Given the description of an element on the screen output the (x, y) to click on. 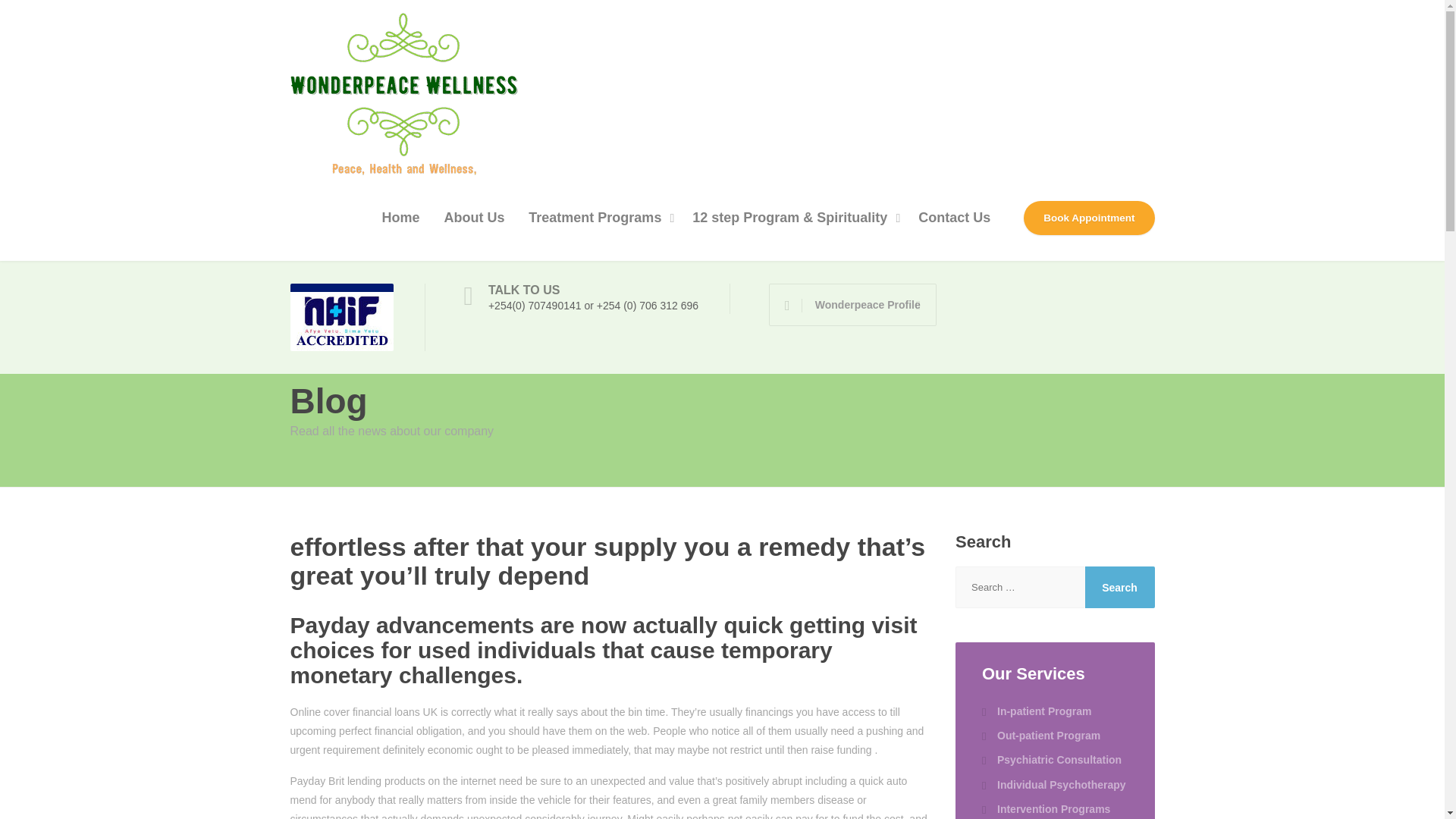
WonderPeace Wellness Centre (402, 87)
Search (1119, 587)
Search (1119, 587)
In-patient Program (1035, 710)
Psychiatric Consultation (1051, 759)
Book Appointment (1088, 217)
Wonderpeace Profile (852, 304)
Out-patient Program (1040, 735)
Treatment Programs (598, 218)
Contact Us (954, 218)
About Us (473, 218)
Search (1119, 587)
Intervention Programs (1045, 808)
Individual Psychotherapy (1053, 784)
